Given the description of an element on the screen output the (x, y) to click on. 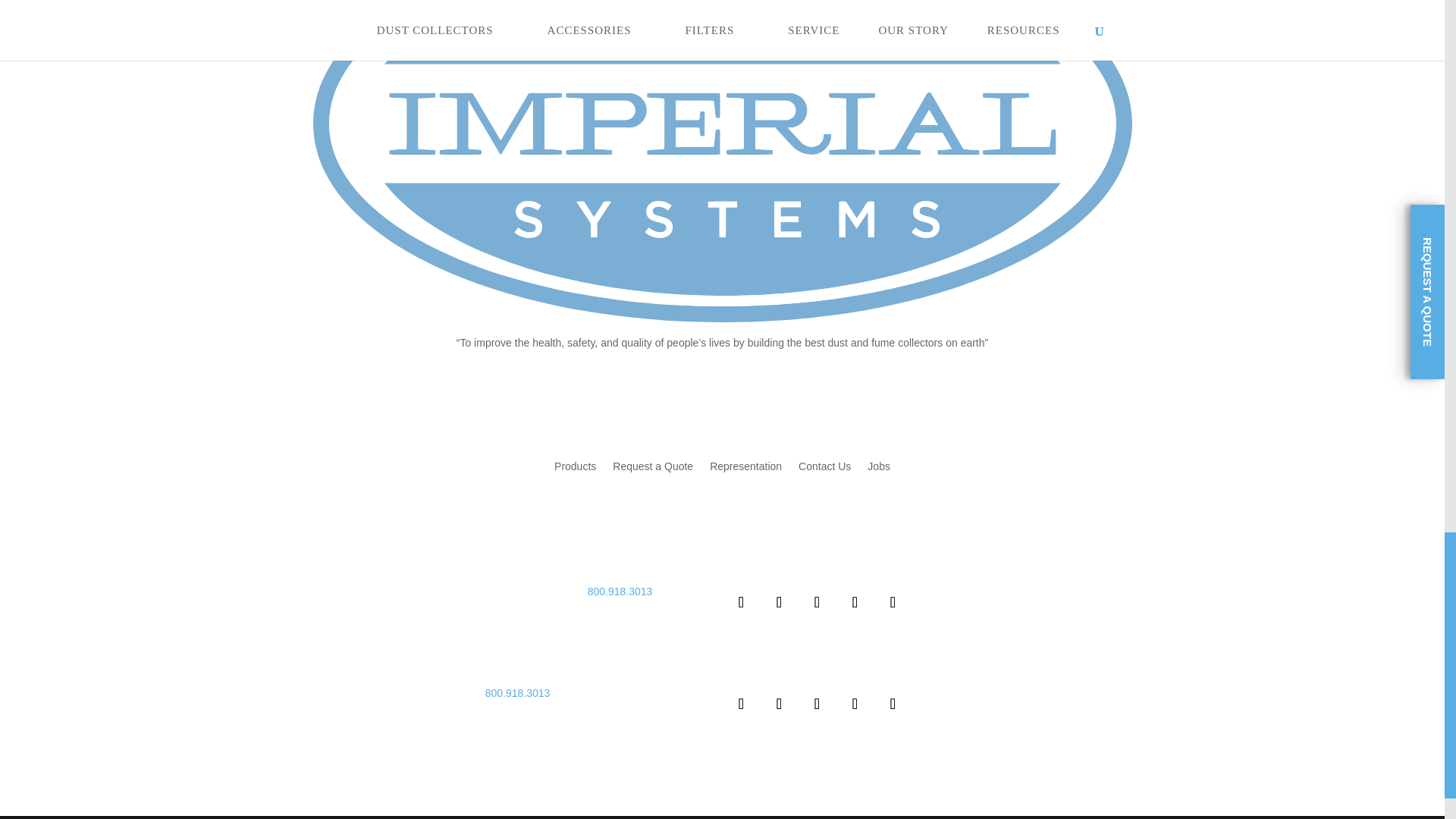
Follow on Twitter (778, 703)
Follow on Twitter (778, 601)
Follow on Instagram (892, 601)
Follow on Facebook (741, 601)
Follow on Youtube (854, 601)
Follow on LinkedIn (816, 601)
Follow on Facebook (741, 703)
Follow on LinkedIn (816, 703)
